Given the description of an element on the screen output the (x, y) to click on. 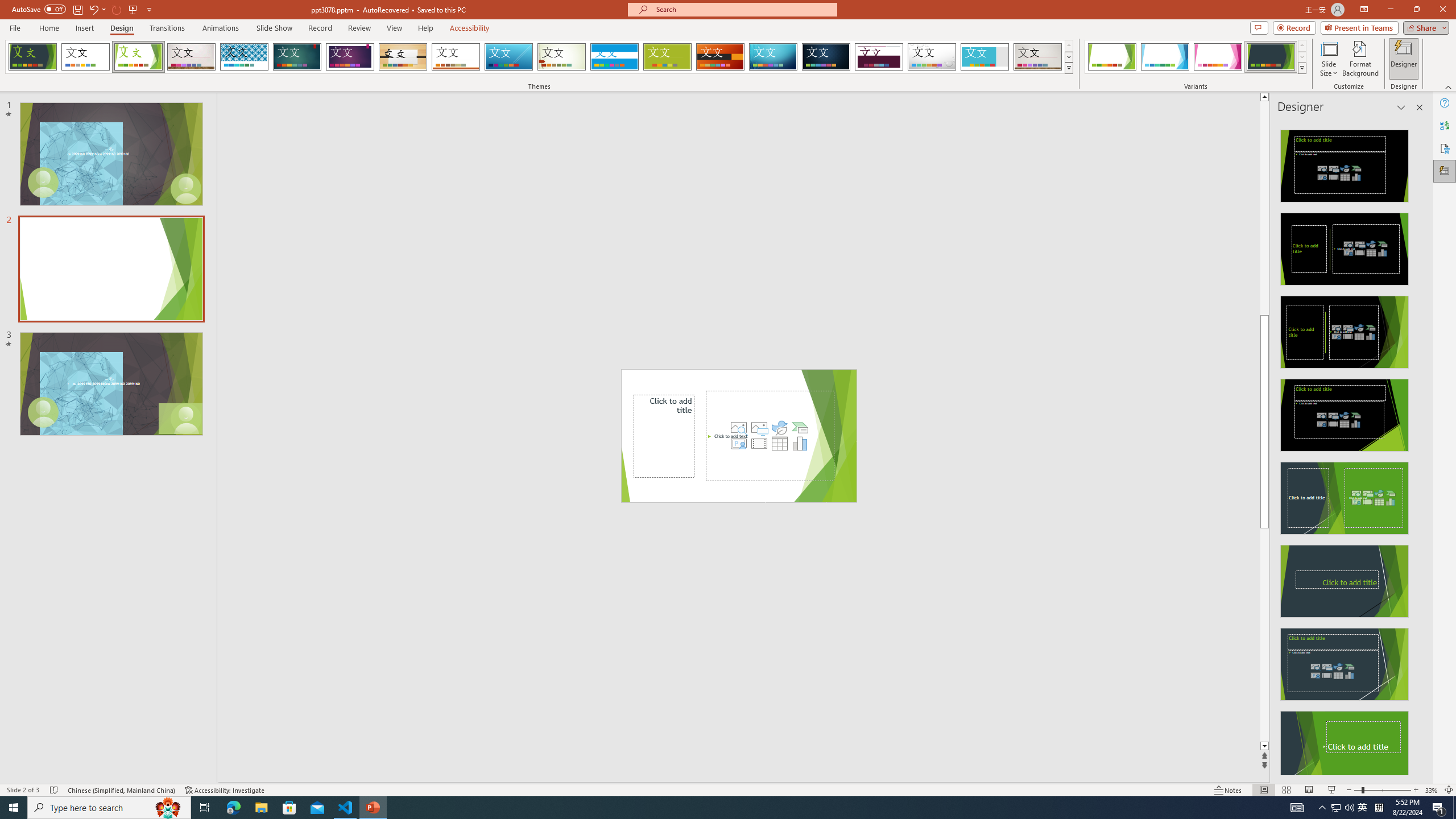
Variants (1301, 67)
Circuit (772, 56)
Page up (1264, 207)
Facet Variant 1 (1112, 56)
Insert Cameo (738, 443)
Integral (244, 56)
Class: NetUIScrollBar (1418, 447)
Format Background (1360, 58)
